Given the description of an element on the screen output the (x, y) to click on. 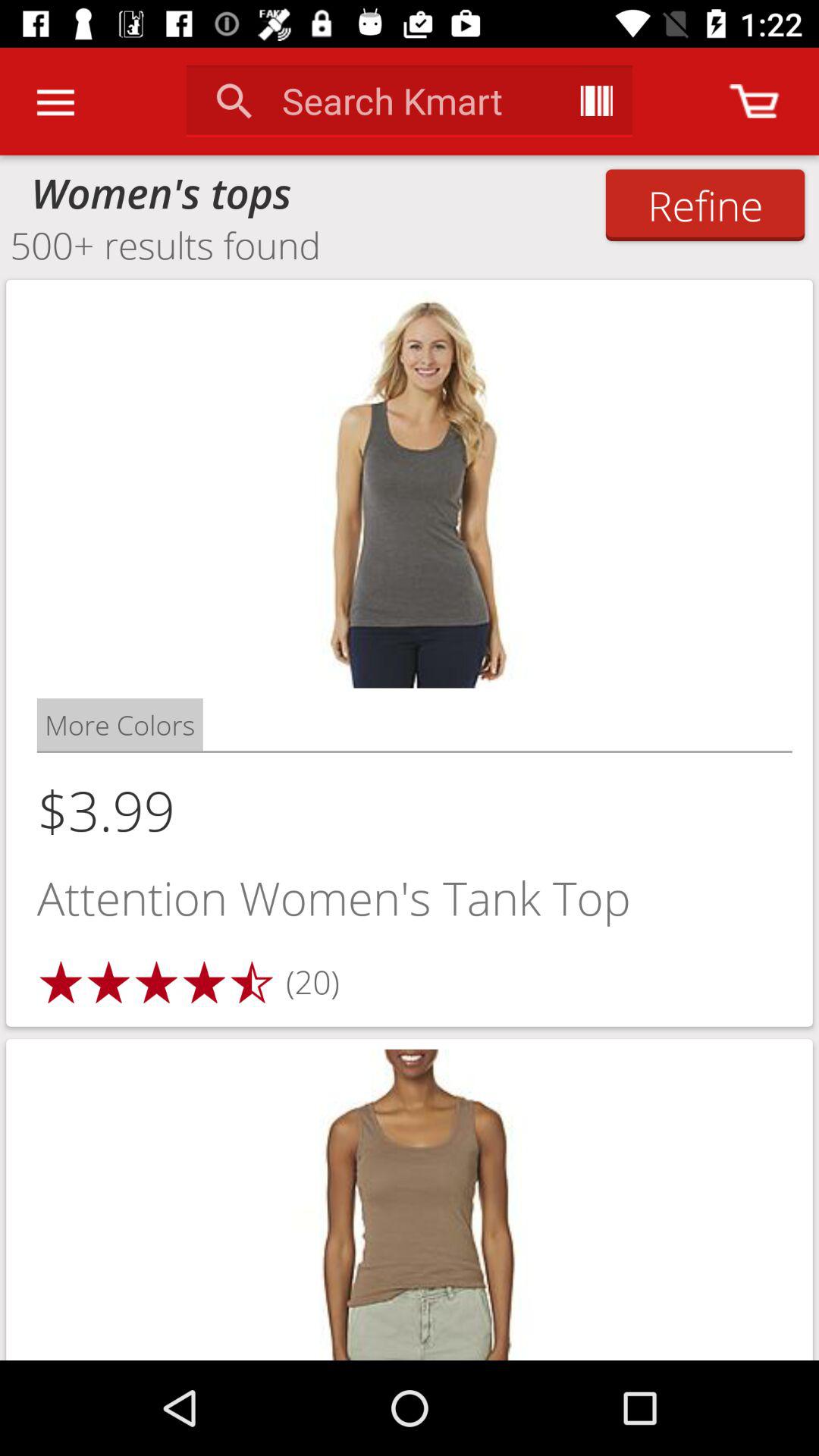
select the 2nd image on the web page (409, 1199)
